Given the description of an element on the screen output the (x, y) to click on. 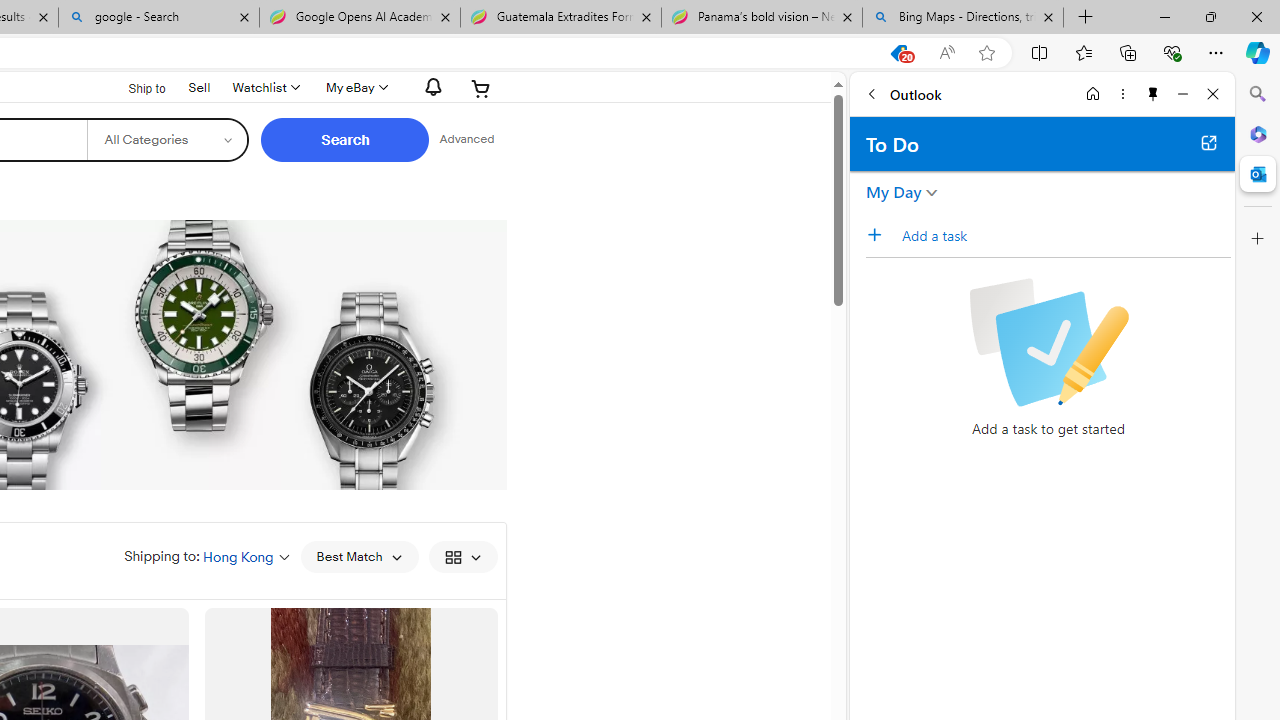
My eBay (354, 88)
Google Opens AI Academy for Startups - Nearshore Americas (359, 17)
